Given the description of an element on the screen output the (x, y) to click on. 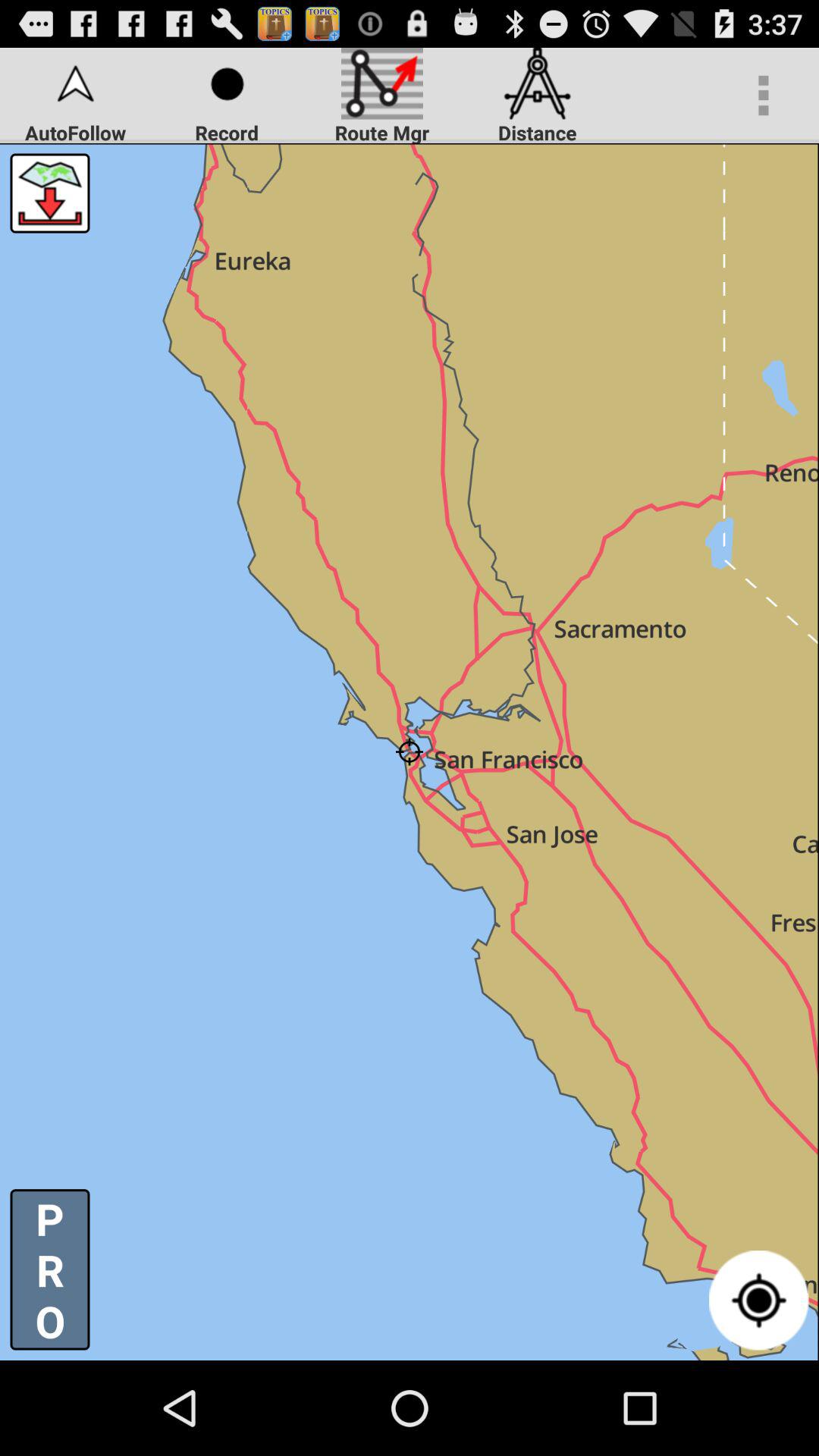
flip until p
r
o button (49, 1269)
